Given the description of an element on the screen output the (x, y) to click on. 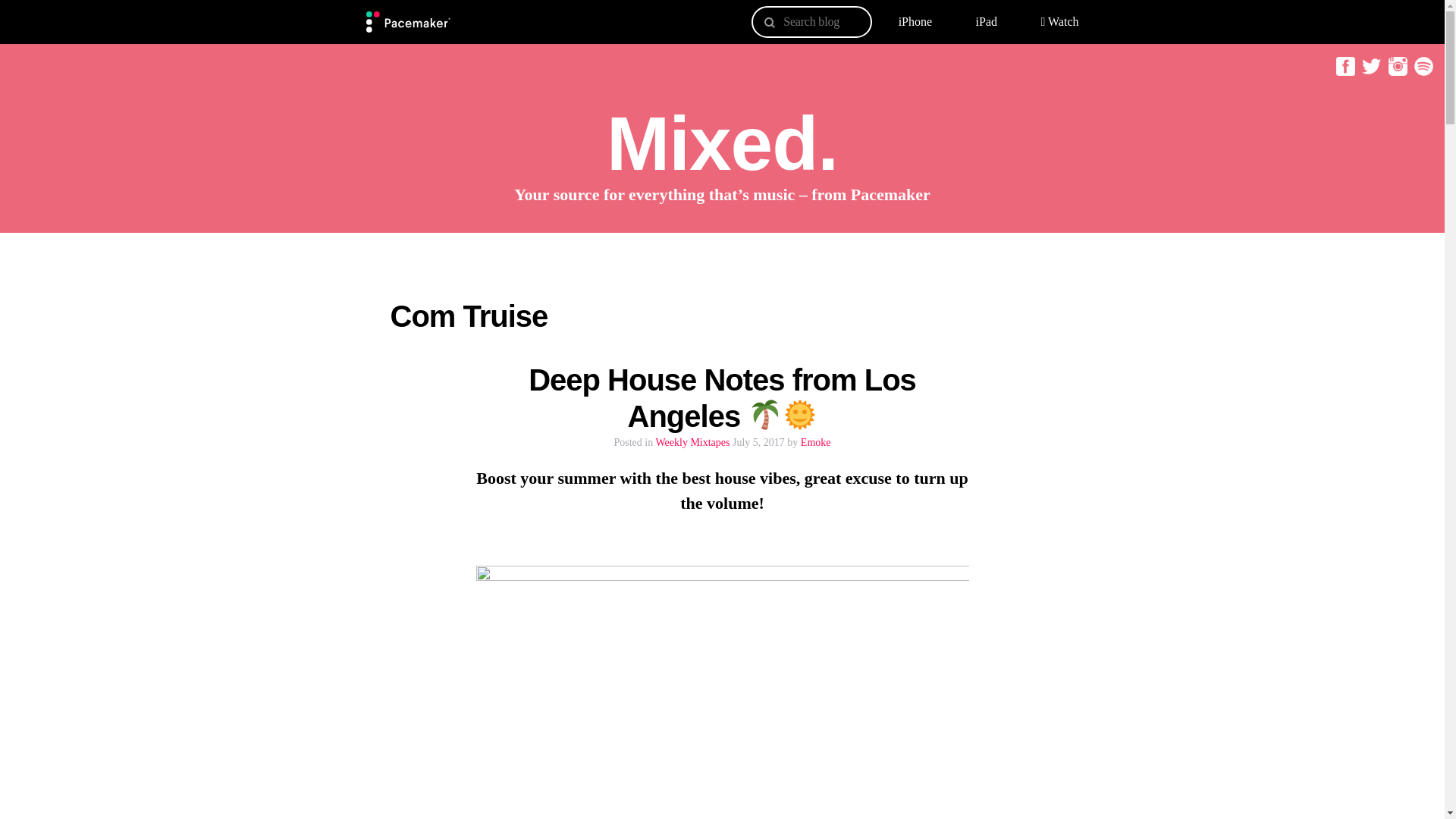
Weekly Mixtapes (692, 441)
Emoke (815, 441)
Pacemaker on Twitter (1369, 71)
Pacemaker on Facebook (1343, 71)
iPad (986, 21)
iPad (986, 21)
Home - Mixed. (407, 21)
Watch (1059, 21)
iPhone (914, 21)
Mixed. (722, 142)
